Given the description of an element on the screen output the (x, y) to click on. 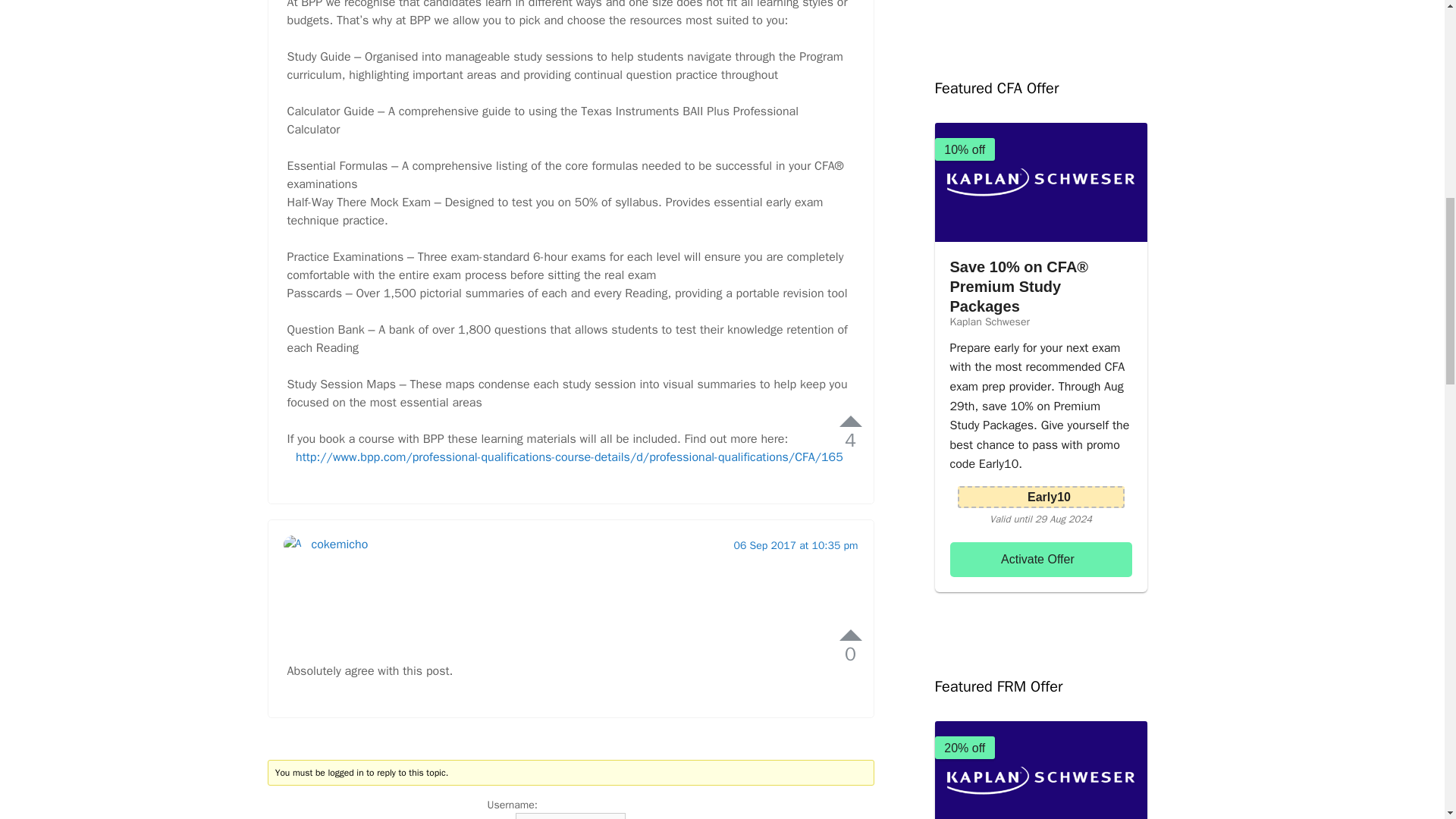
View cokemicho's profile (330, 638)
Activate Offer (1040, 559)
